Given the description of an element on the screen output the (x, y) to click on. 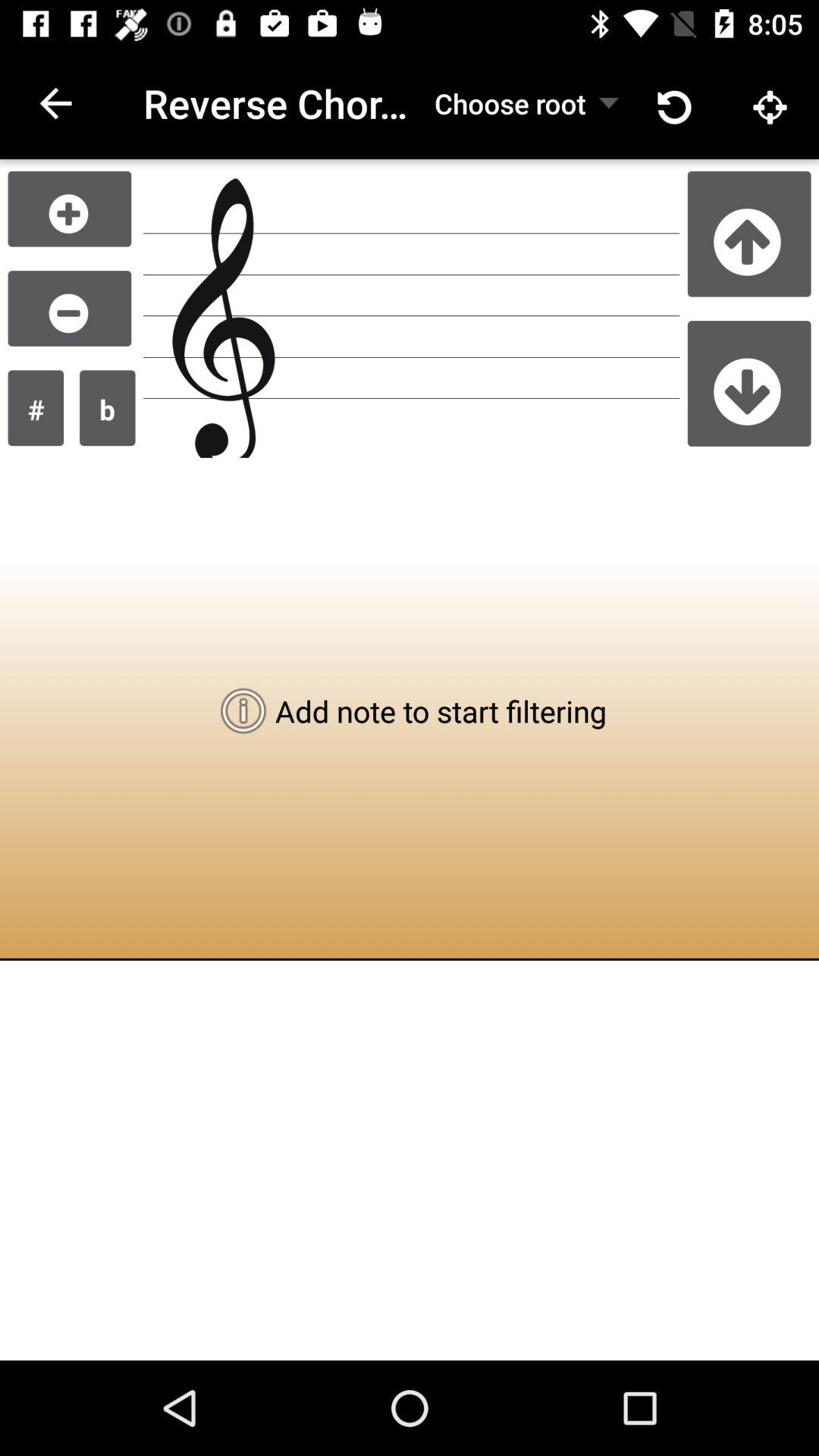
add b measure to note (107, 407)
